Given the description of an element on the screen output the (x, y) to click on. 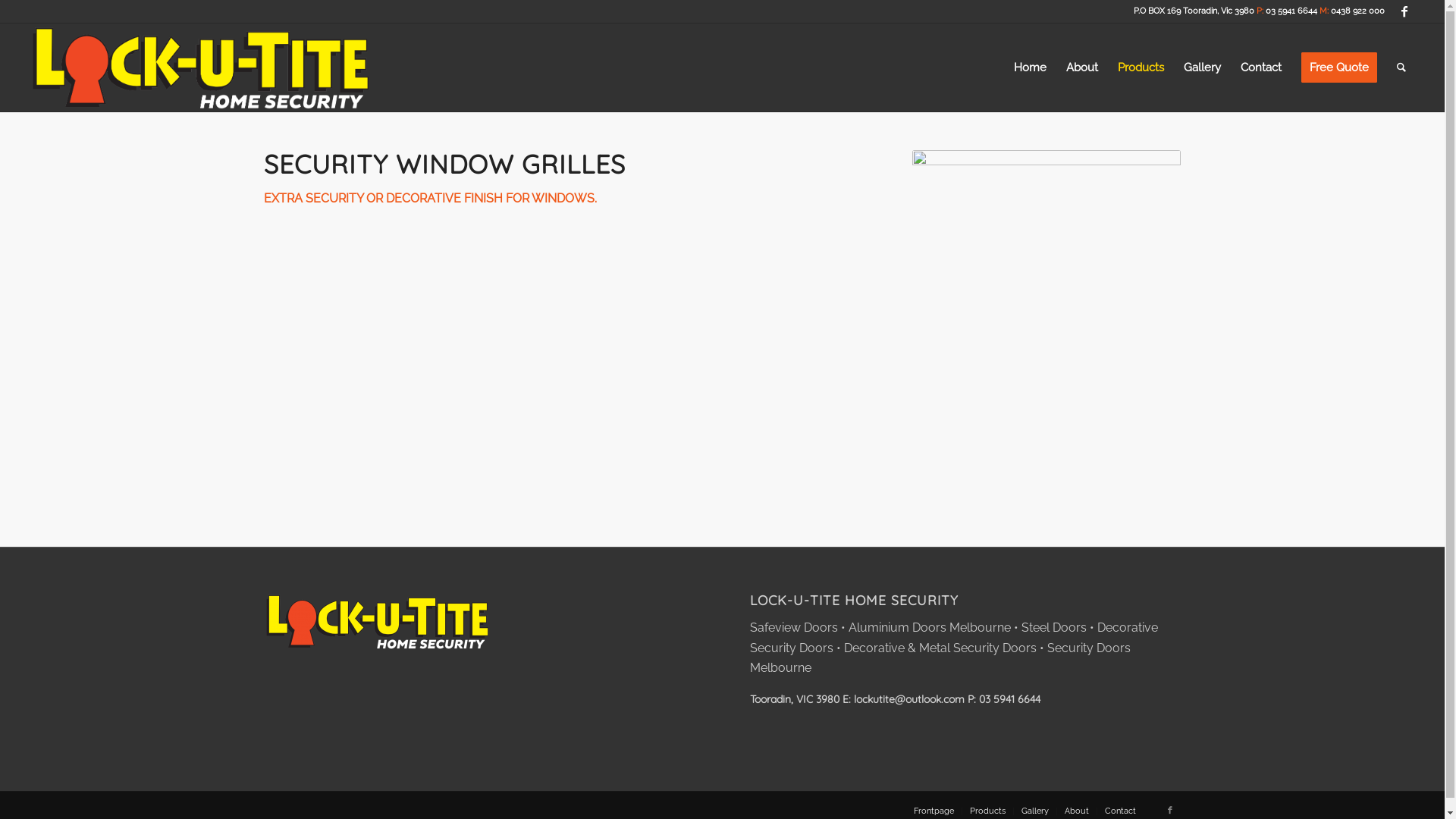
Contact Element type: text (1119, 810)
Free Quote Element type: text (1338, 67)
03 5941 6644 Element type: text (1009, 699)
Gallery Element type: text (1034, 810)
About Element type: text (1076, 810)
lockutite@outlook.com Element type: text (908, 699)
About Element type: text (1081, 67)
Facebook Element type: hover (1404, 11)
Home Element type: text (1030, 67)
Frontpage Element type: text (933, 810)
Products Element type: text (986, 810)
Gallery Element type: text (1201, 67)
window grille 2 Element type: hover (1046, 329)
Contact Element type: text (1260, 67)
Products Element type: text (1140, 67)
